Given the description of an element on the screen output the (x, y) to click on. 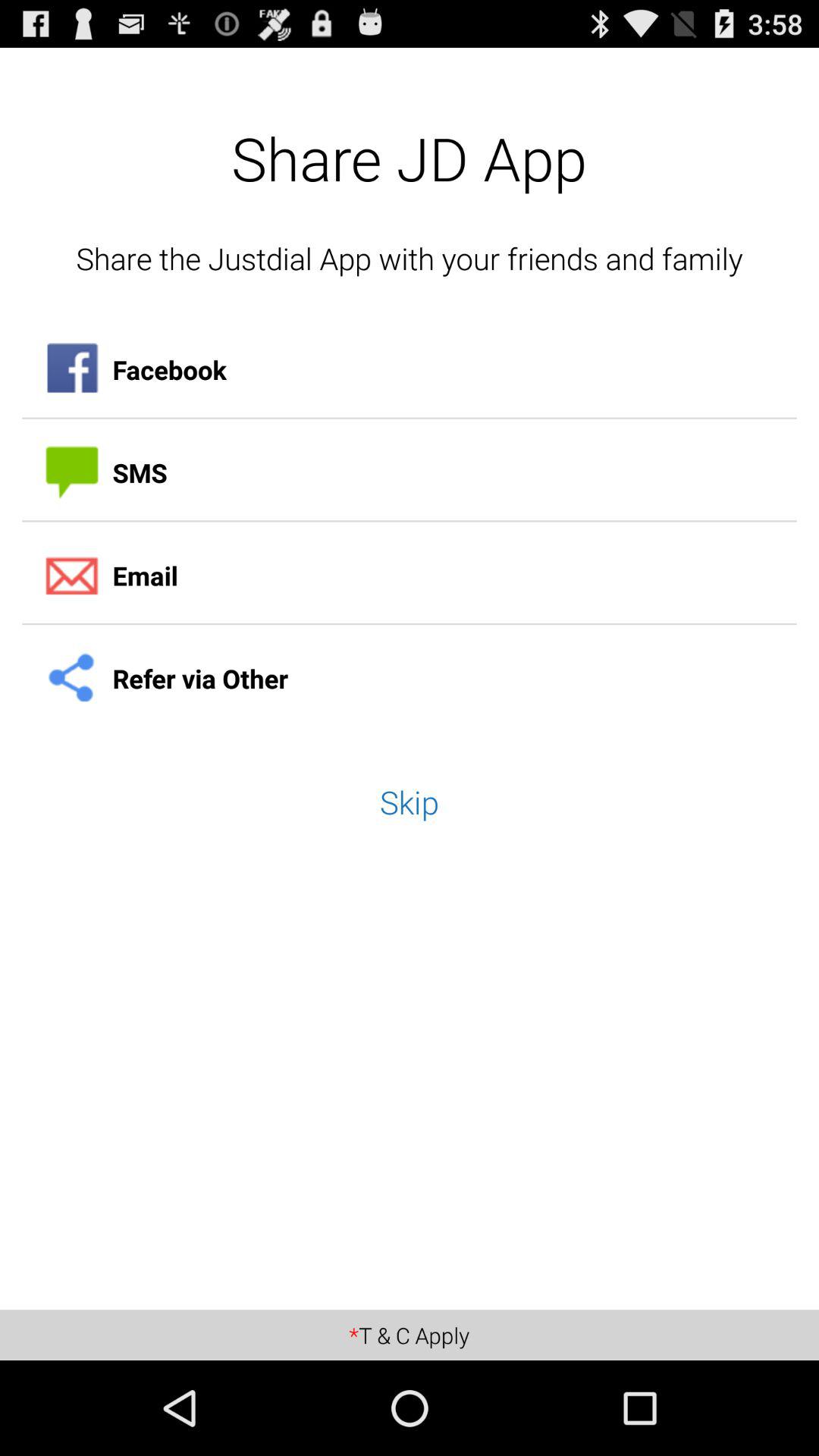
flip until the refer via other button (409, 678)
